Given the description of an element on the screen output the (x, y) to click on. 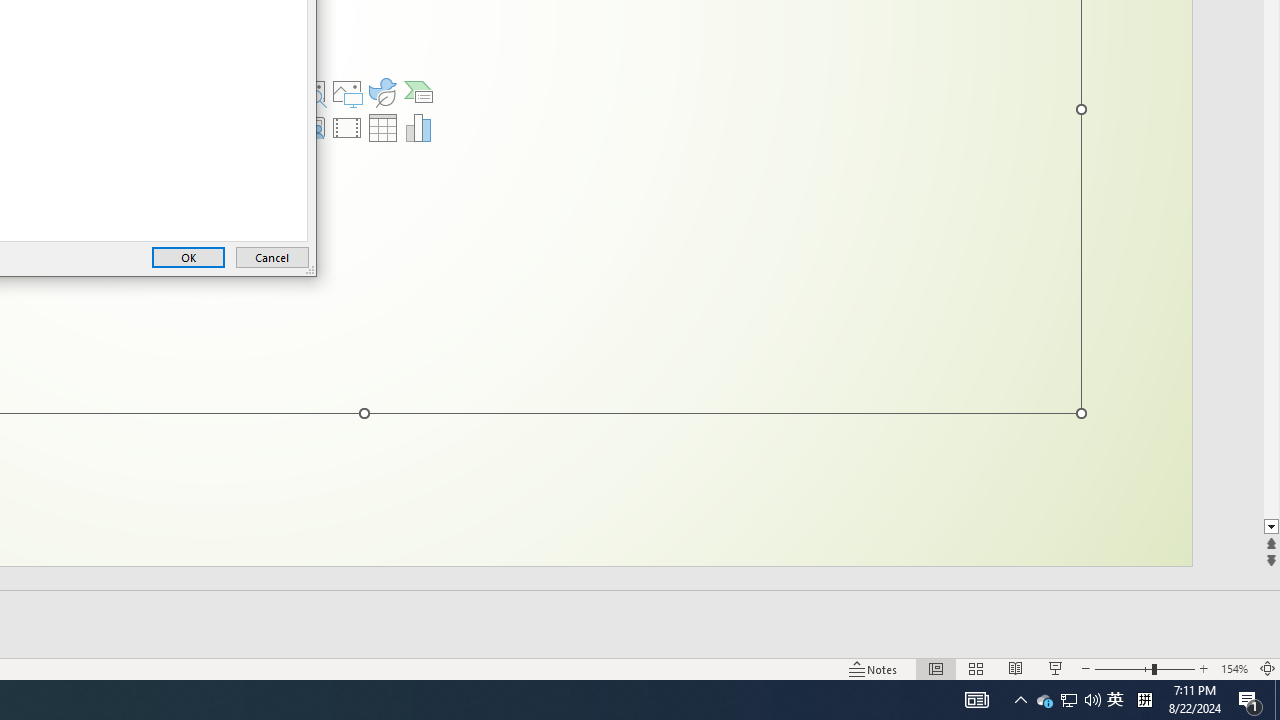
OK (188, 257)
Insert Video (347, 128)
Insert Table (383, 128)
Insert an Icon (383, 92)
